Given the description of an element on the screen output the (x, y) to click on. 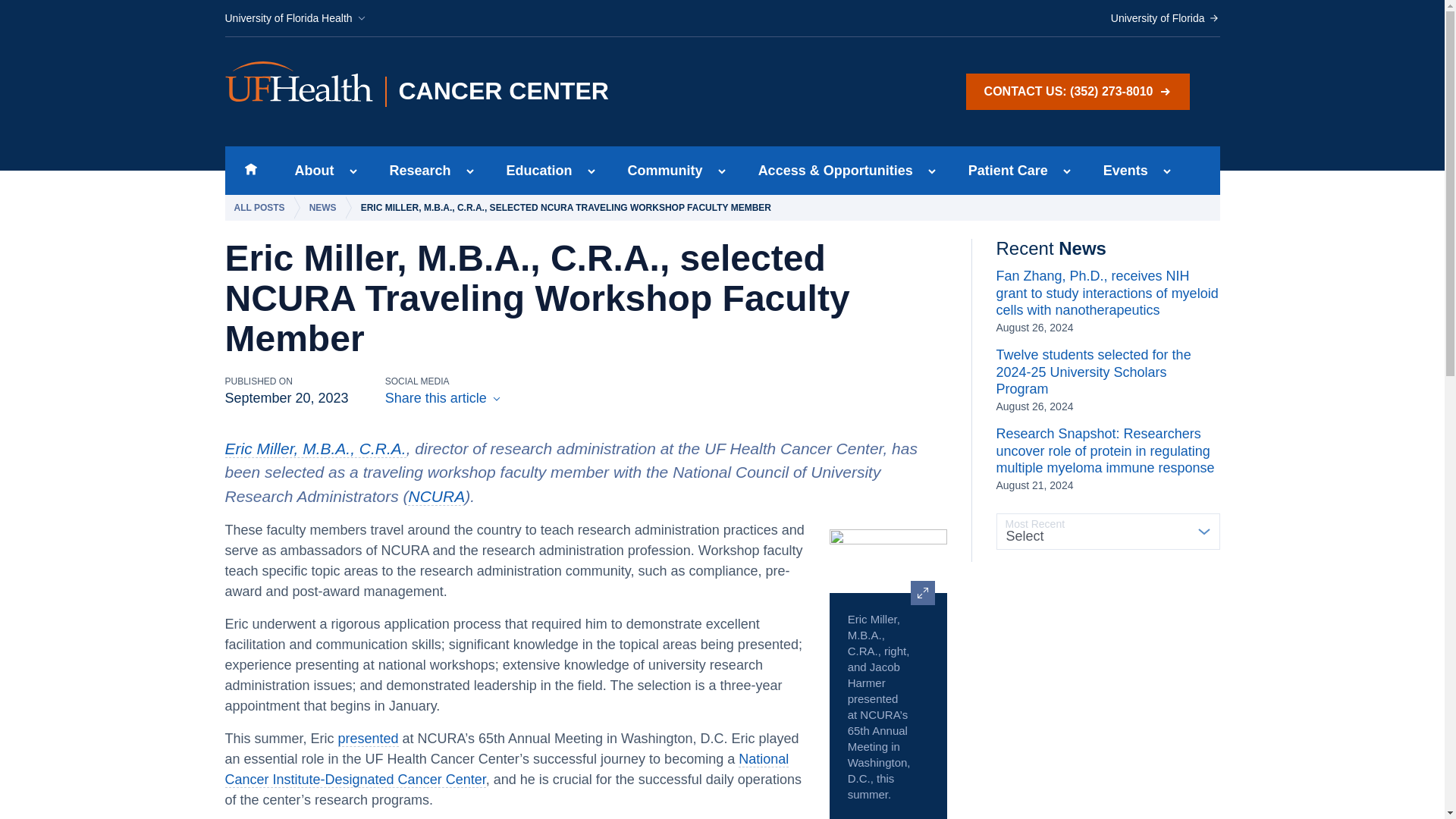
Research (415, 170)
CANCER CENTER (515, 91)
University of Florida (1165, 18)
About (309, 170)
University of Florida Health (295, 18)
Home (250, 170)
